Given the description of an element on the screen output the (x, y) to click on. 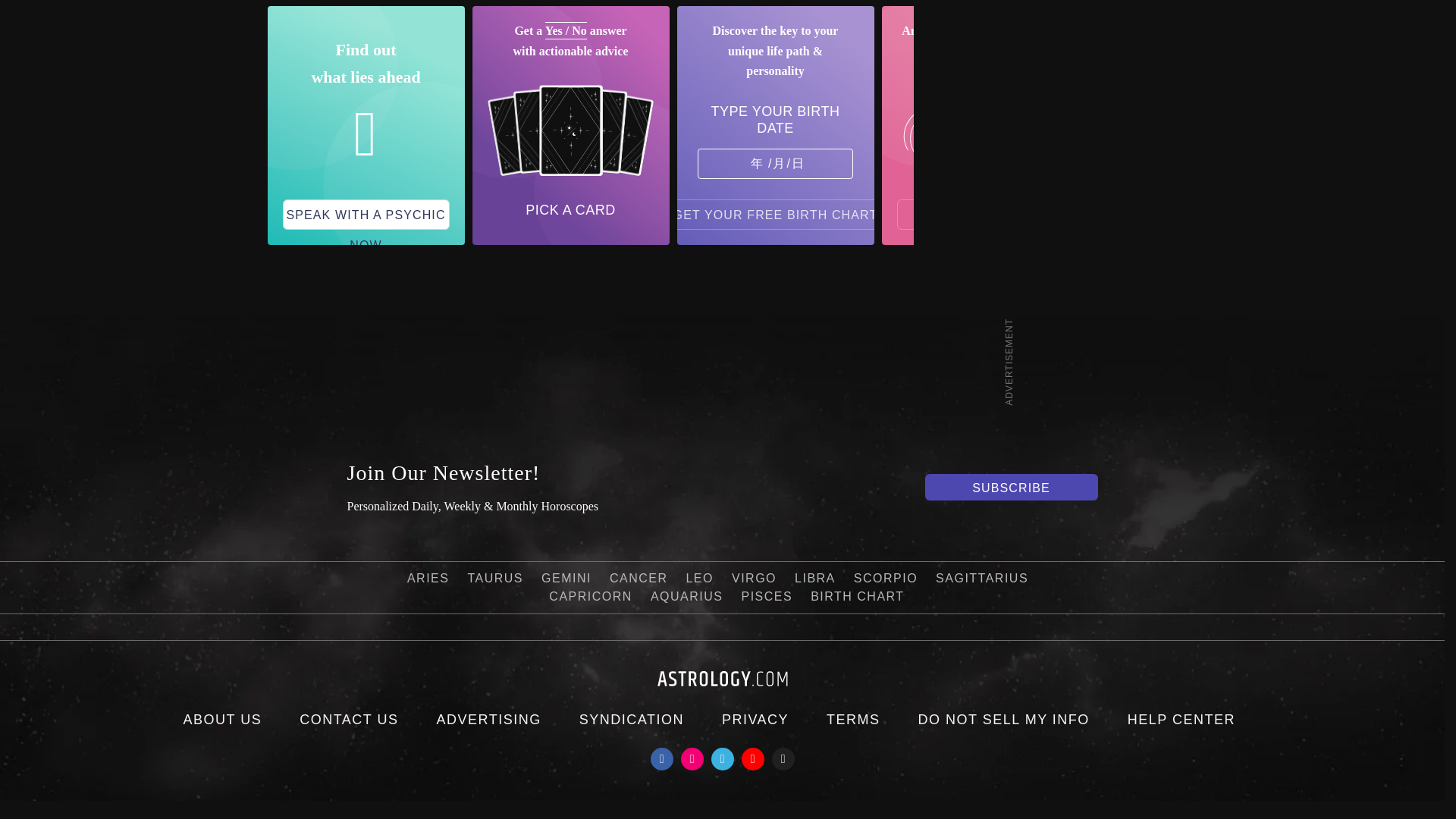
Get your free birth chart (775, 214)
